Given the description of an element on the screen output the (x, y) to click on. 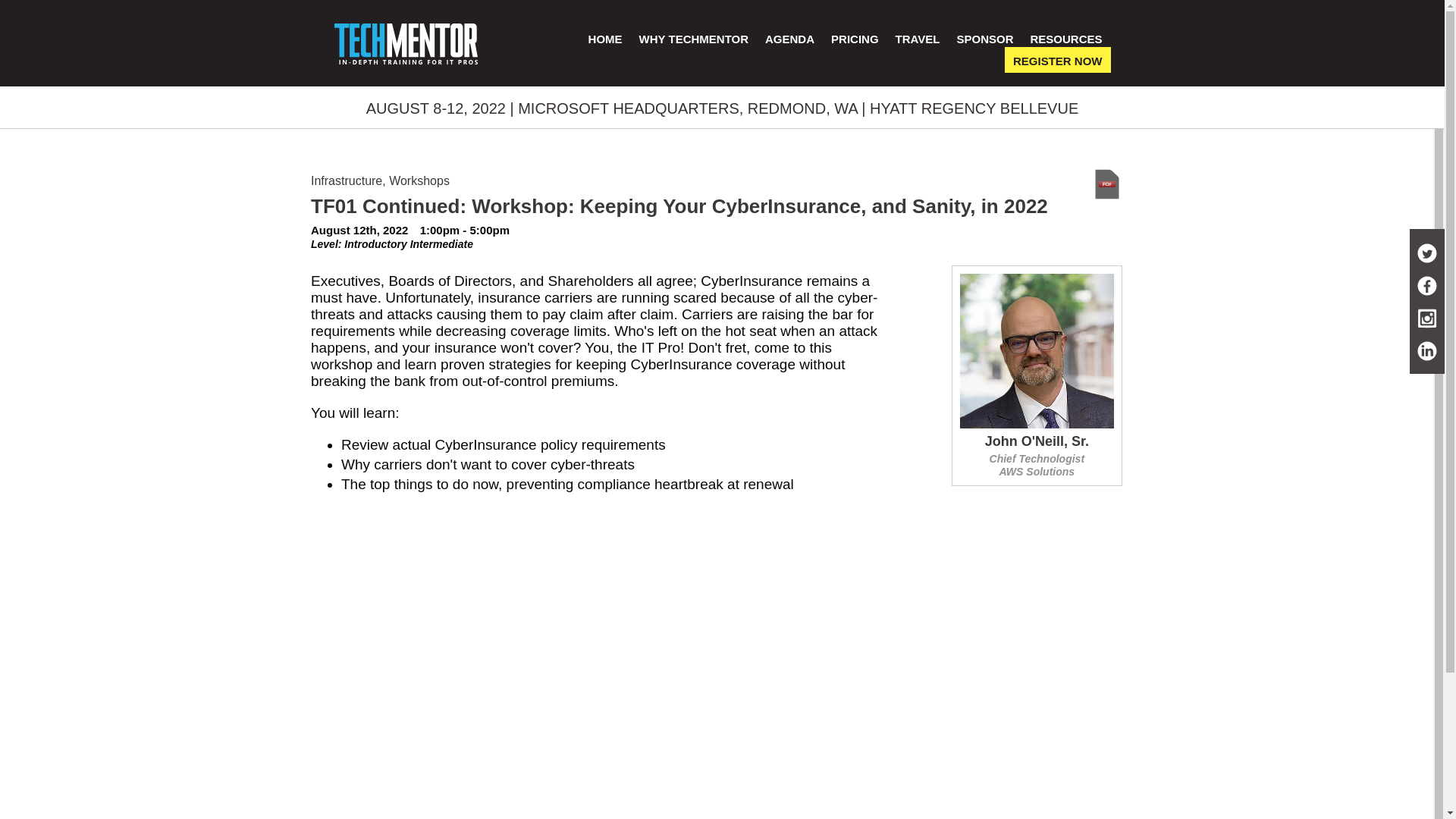
TRAVEL (917, 38)
REGISTER NOW (1057, 59)
RESOURCES (1065, 38)
HOME (605, 38)
AGENDA (789, 38)
WHY TECHMENTOR (693, 38)
SPONSOR (984, 38)
PRICING (855, 38)
John O'Neill, Sr. (1036, 442)
